Given the description of an element on the screen output the (x, y) to click on. 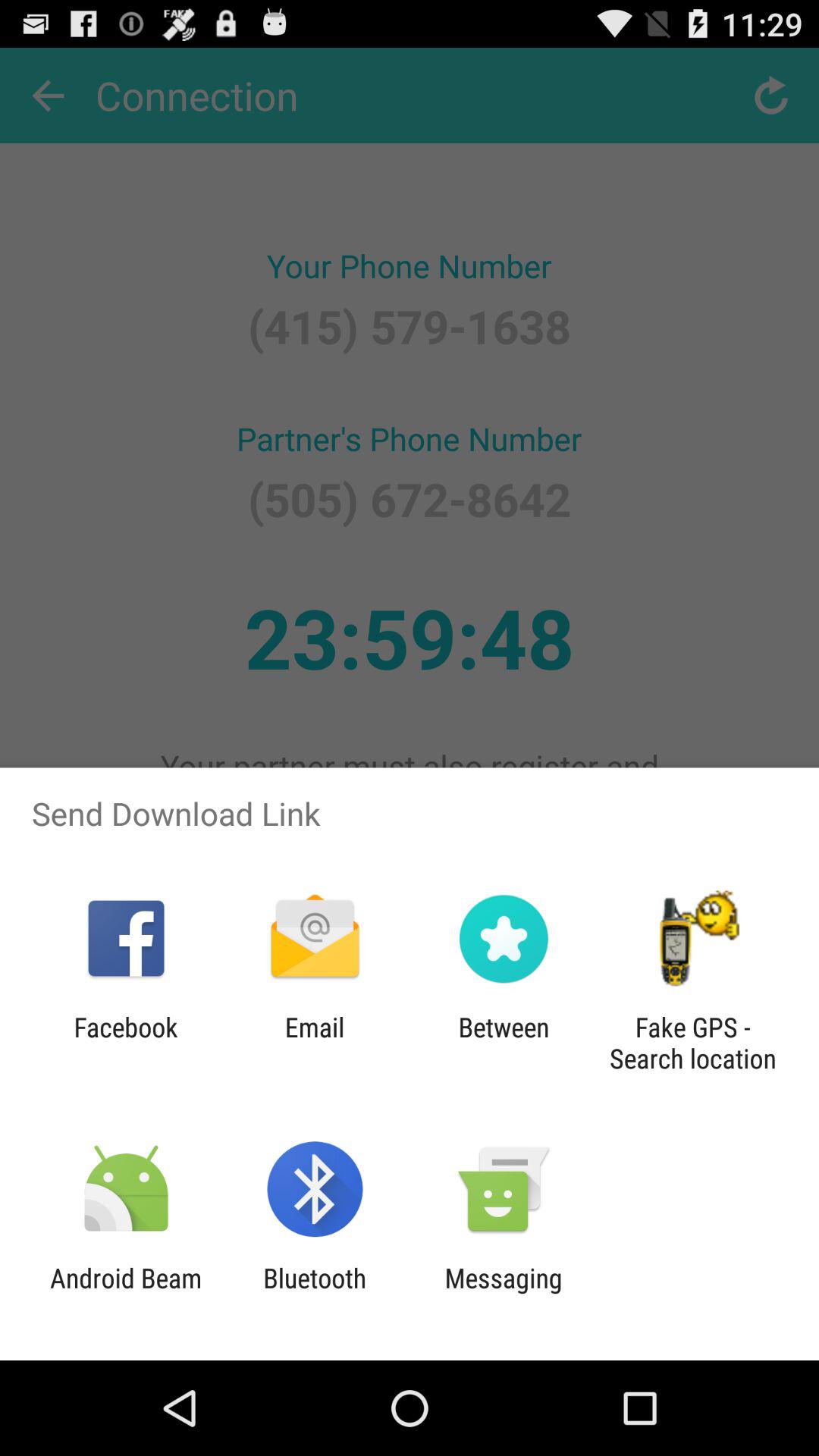
launch item to the left of bluetooth app (125, 1293)
